Given the description of an element on the screen output the (x, y) to click on. 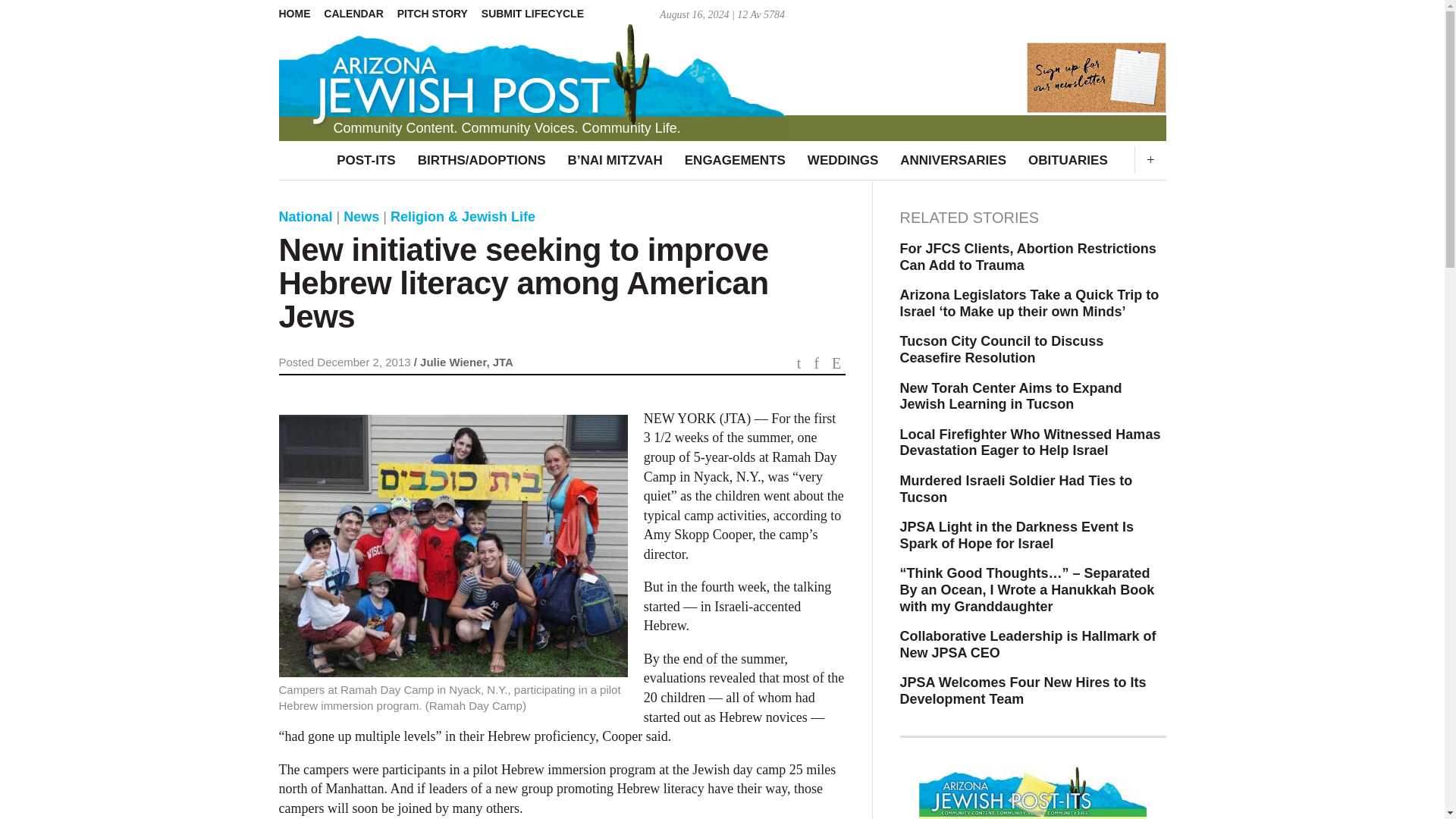
Tucson City Council to Discuss Ceasefire Resolution (1032, 349)
For JFCS Clients, Abortion Restrictions Can Add to Trauma (1032, 256)
HOME (300, 14)
Tucson City Council to Discuss Ceasefire Resolution (1032, 349)
Murdered Israeli Soldier Had Ties to Tucson (1032, 489)
ENGAGEMENTS (734, 160)
POST-ITS (365, 160)
For JFCS Clients, Abortion Restrictions Can Add to Trauma (1032, 256)
